Given the description of an element on the screen output the (x, y) to click on. 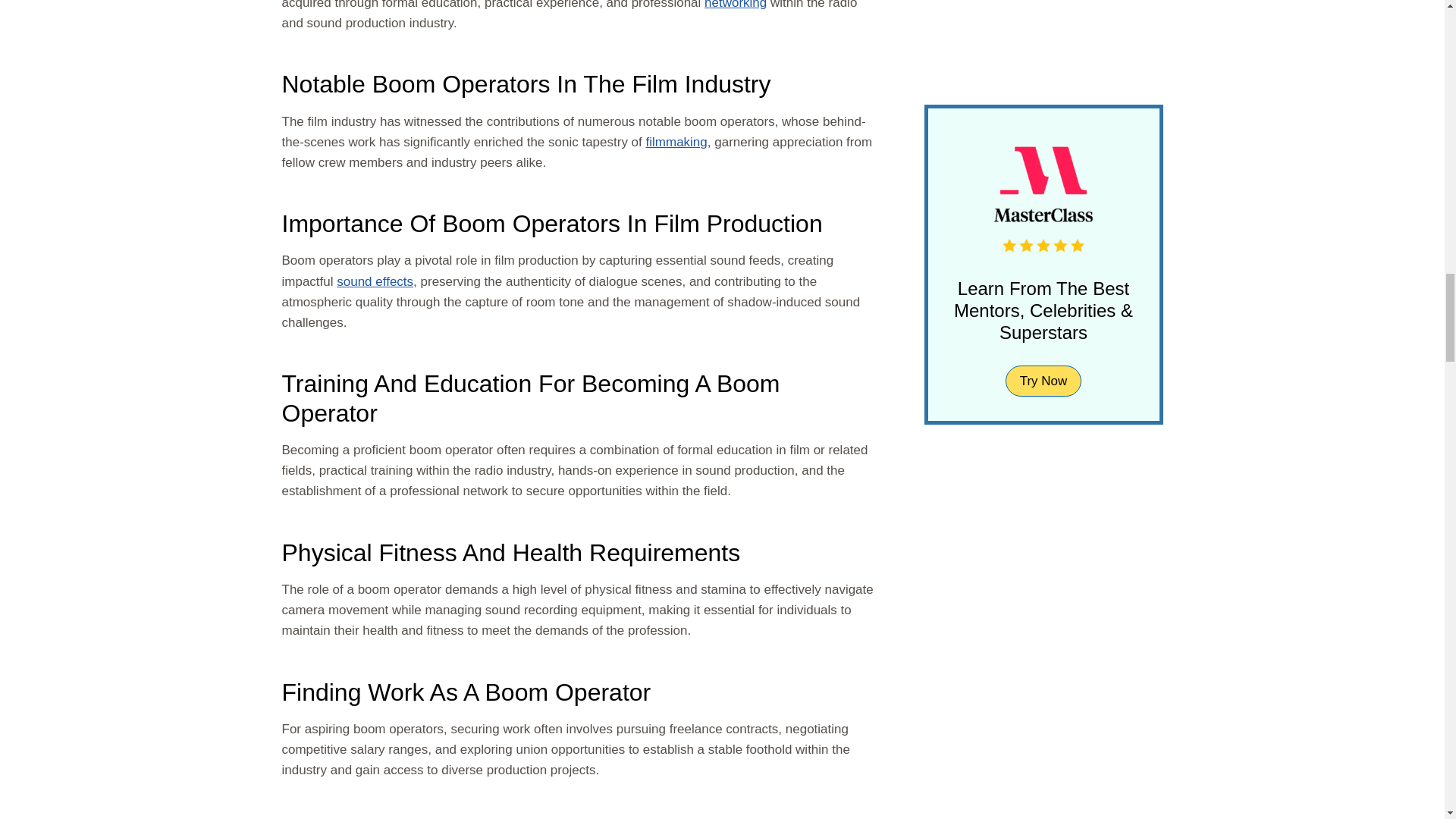
networking (735, 4)
filmmaking (676, 142)
sound effects (374, 281)
